Given the description of an element on the screen output the (x, y) to click on. 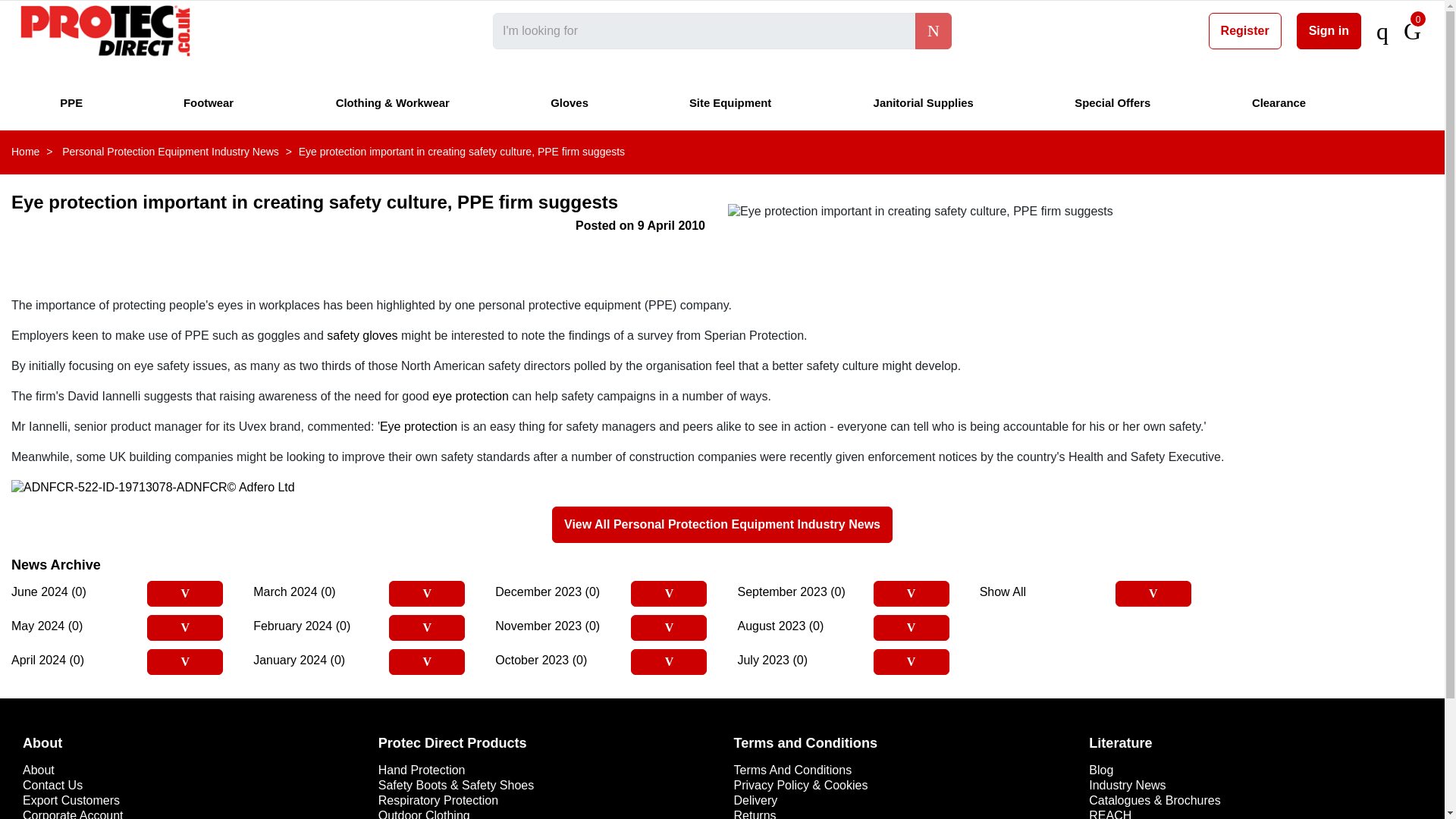
Sign in (1329, 31)
Register (1244, 31)
PPE (72, 101)
PPE (72, 101)
Protec Direct (105, 30)
